Given the description of an element on the screen output the (x, y) to click on. 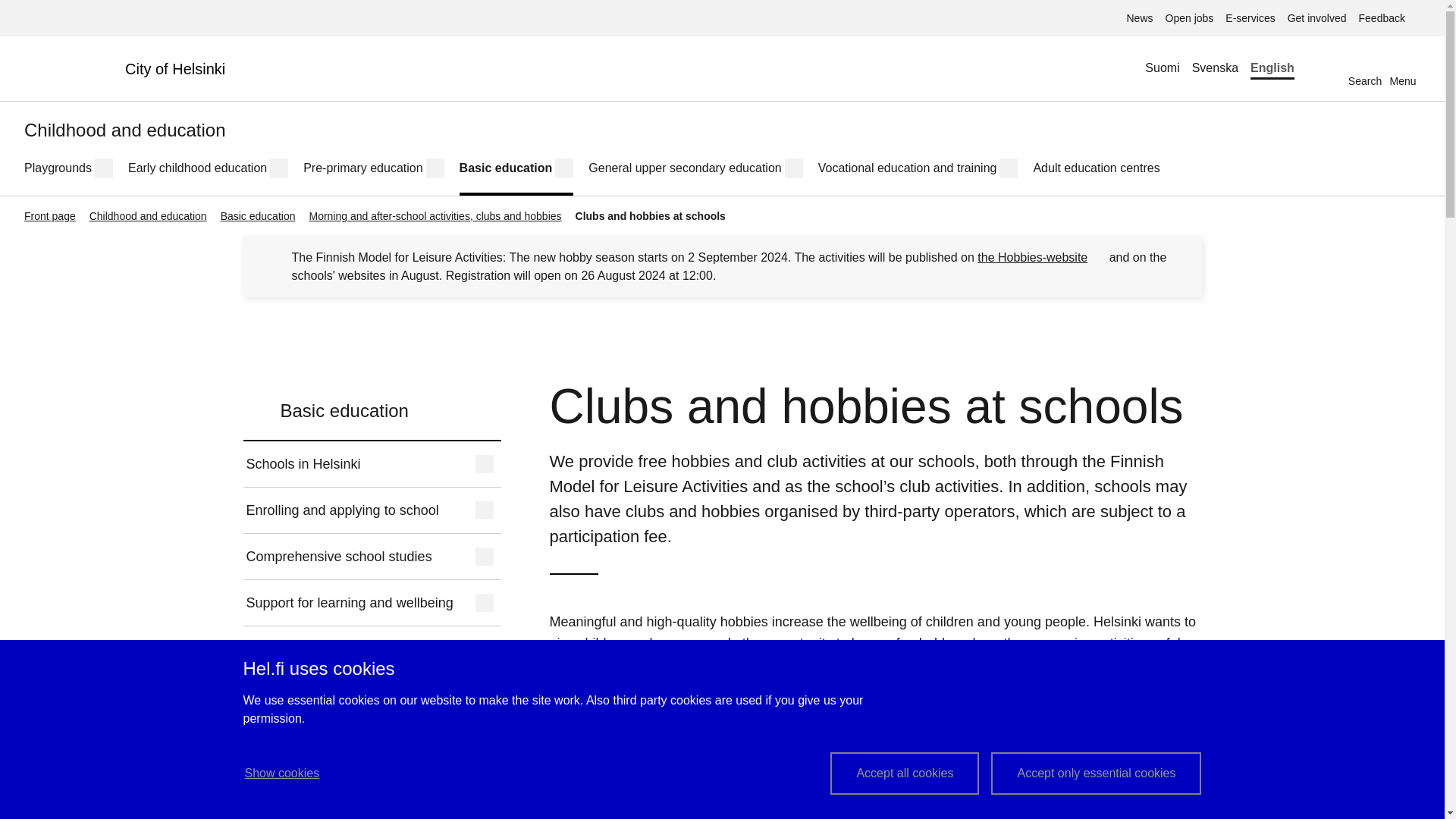
Submit (587, 215)
City of Helsinki (130, 68)
News (1139, 18)
Open Information in other languages menu (1321, 68)
General upper secondary education (684, 167)
Basic education in Helsinki (506, 167)
Get involved (1316, 18)
Open jobs (1364, 68)
Suomi (1188, 18)
